Given the description of an element on the screen output the (x, y) to click on. 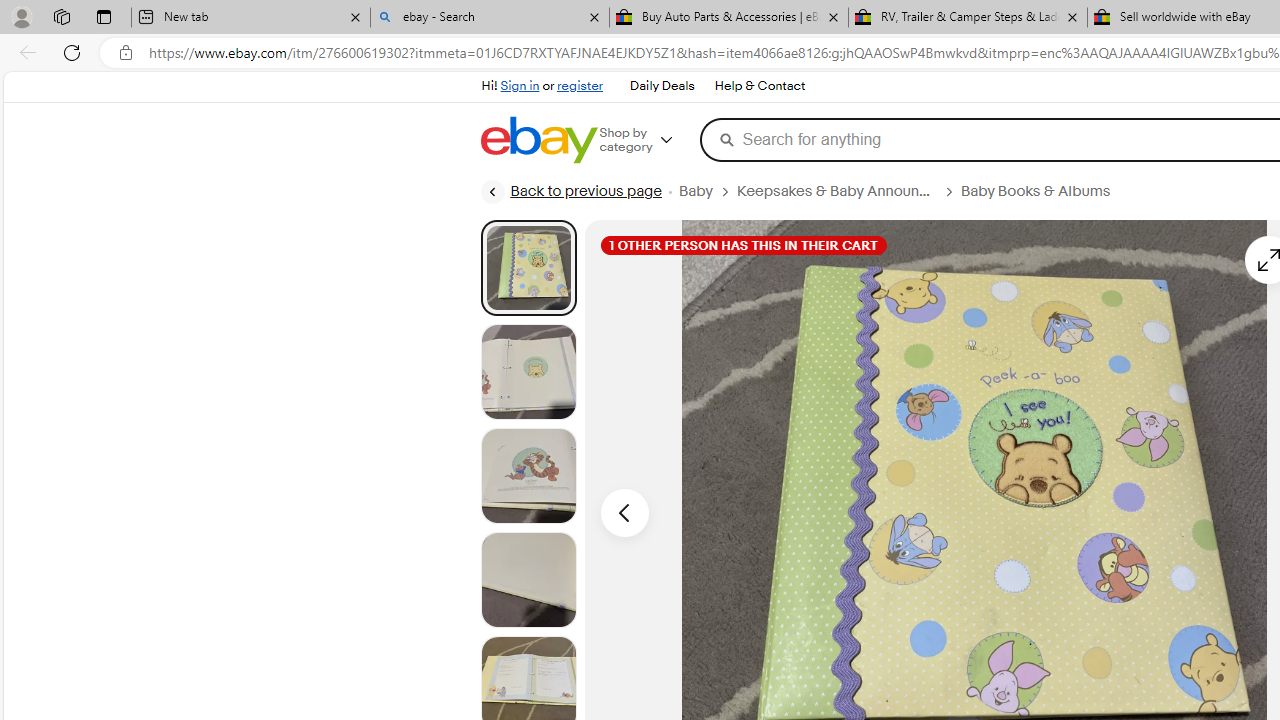
eBay Home (538, 139)
Picture 4 of 22 (528, 579)
Daily Deals (661, 85)
Daily Deals (662, 86)
Baby (695, 191)
Picture 2 of 22 (528, 371)
Picture 2 of 22 (528, 371)
Picture 1 of 22 (528, 267)
Baby (707, 191)
Shop by category (649, 140)
Sign in (520, 85)
